Given the description of an element on the screen output the (x, y) to click on. 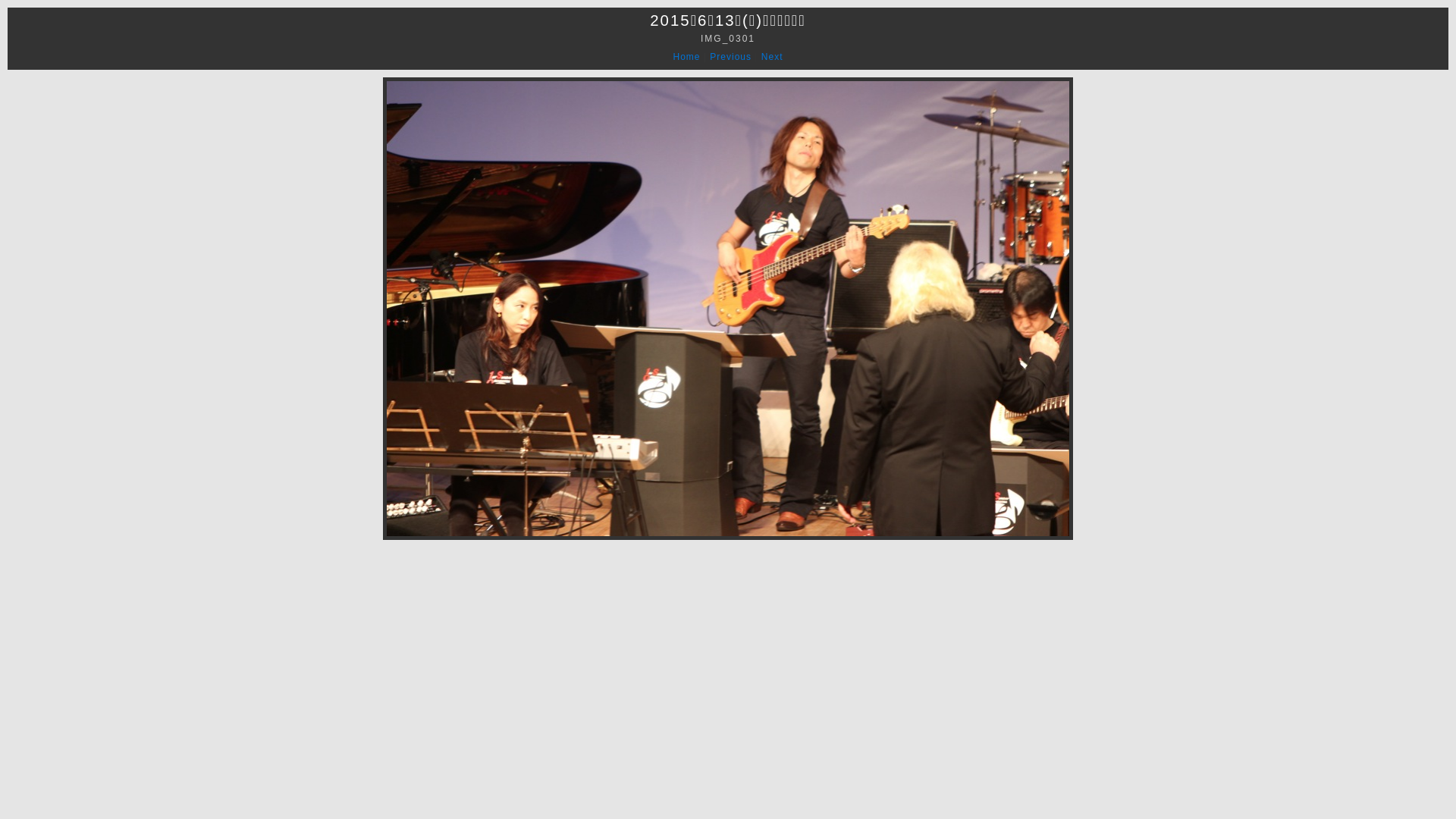
Previous Element type: text (730, 56)
Next Element type: text (772, 56)
Home Element type: text (686, 56)
